Given the description of an element on the screen output the (x, y) to click on. 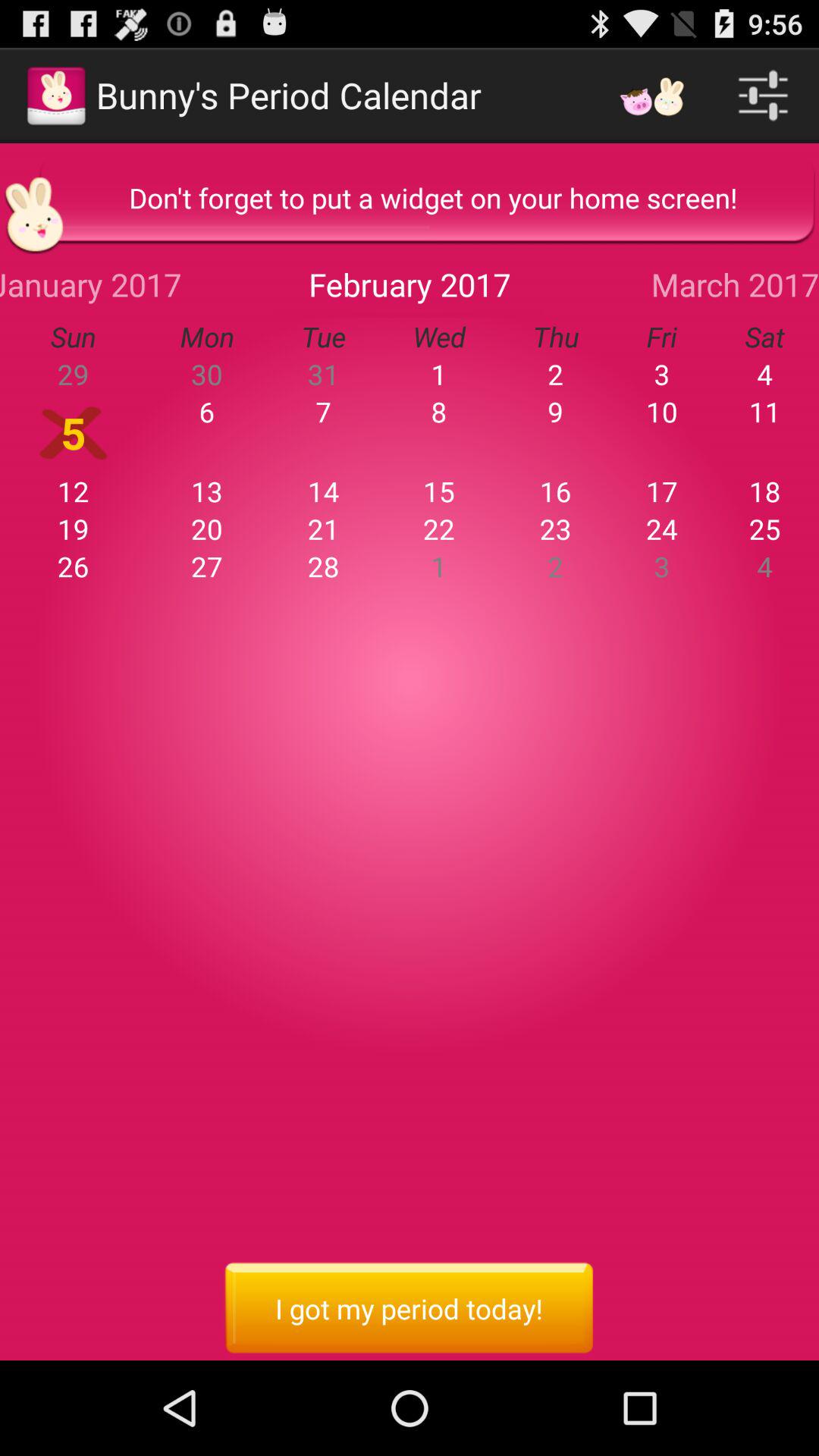
click the icon to the left of fri item (555, 336)
